Given the description of an element on the screen output the (x, y) to click on. 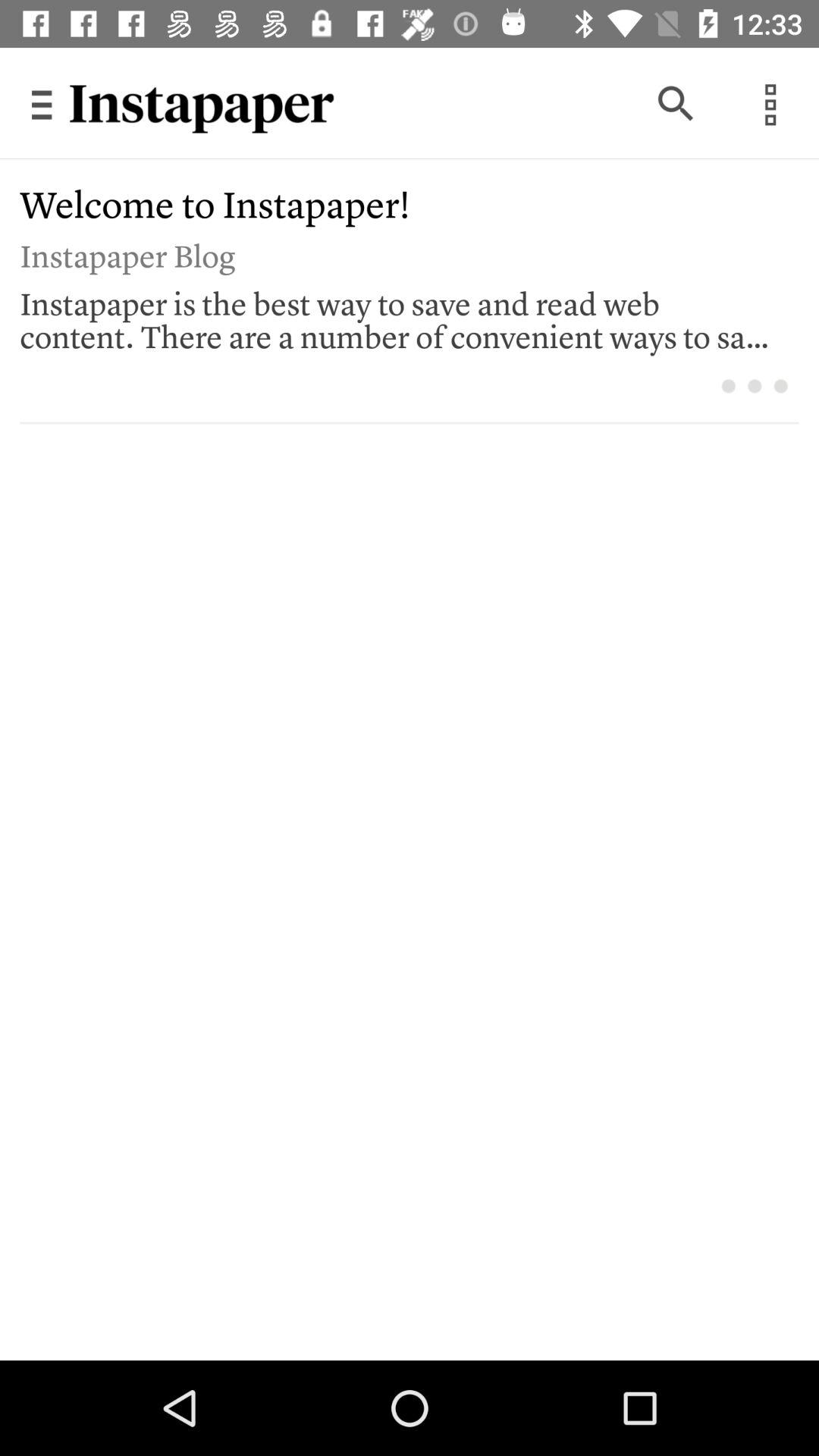
launch the icon below the welcome to instapaper! (399, 253)
